Given the description of an element on the screen output the (x, y) to click on. 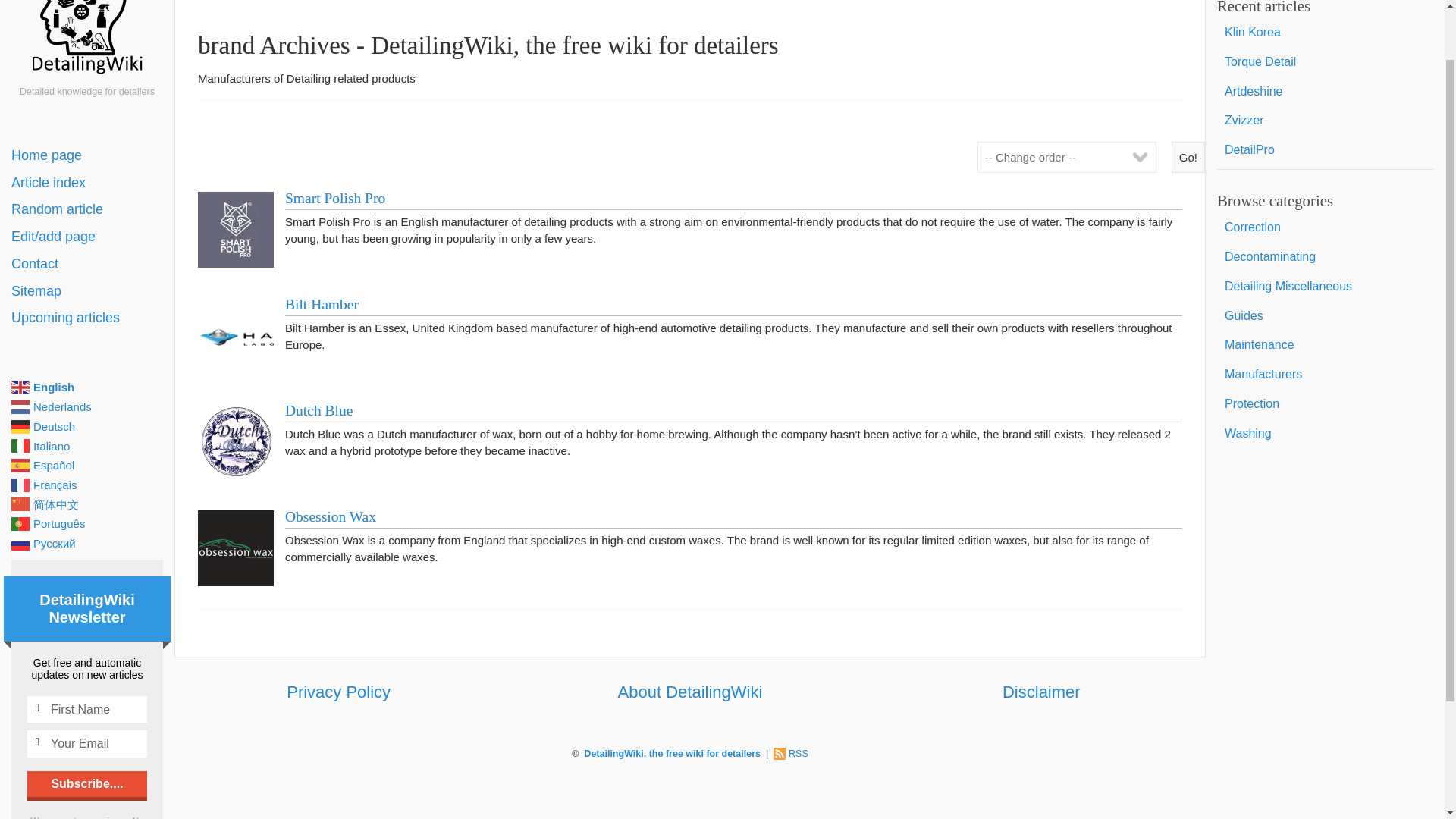
Dutch Blue (318, 410)
DetailPro (1324, 150)
Klin Korea (1324, 32)
Torque Detail (1324, 61)
Manufacturers (1324, 374)
Maintenance (1324, 345)
Contact (87, 264)
Article index (87, 183)
Subscribe.... (87, 783)
Obsession Wax (330, 516)
Upcoming articles (87, 318)
English (87, 387)
Sitemap (87, 291)
Nederlands (87, 406)
Go! (1188, 156)
